Given the description of an element on the screen output the (x, y) to click on. 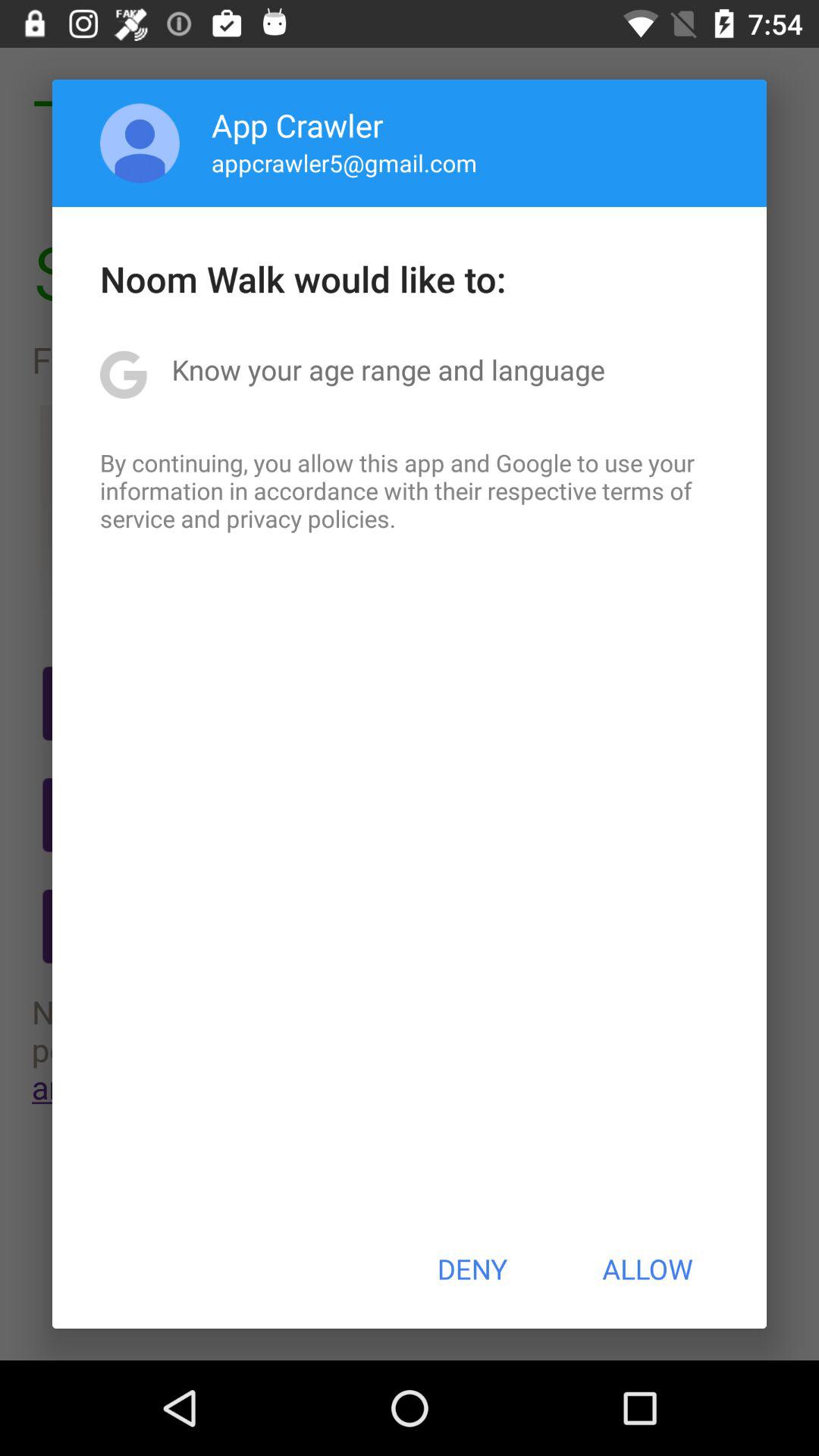
open app crawler item (297, 124)
